Given the description of an element on the screen output the (x, y) to click on. 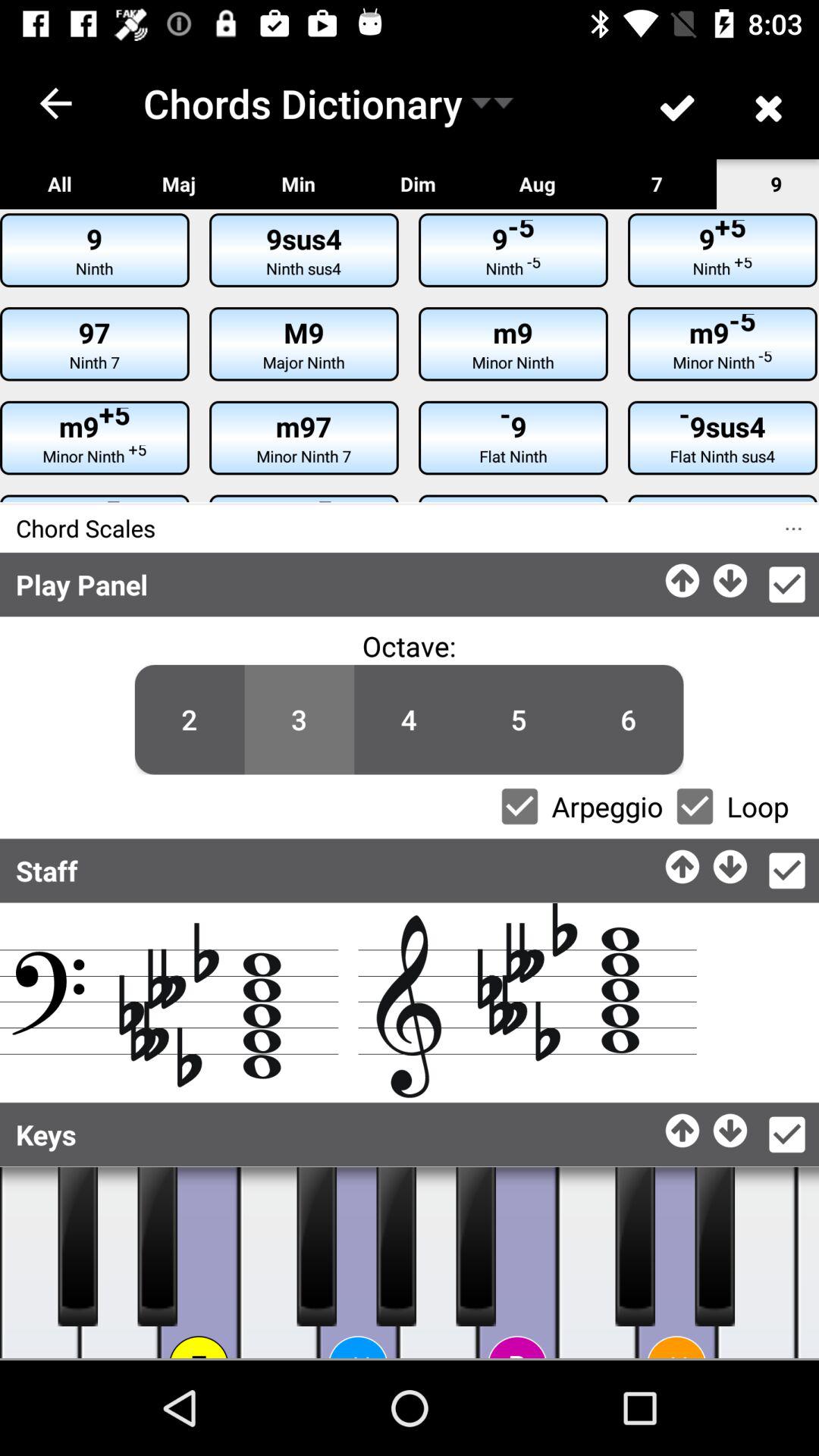
toggle button (396, 1246)
